Given the description of an element on the screen output the (x, y) to click on. 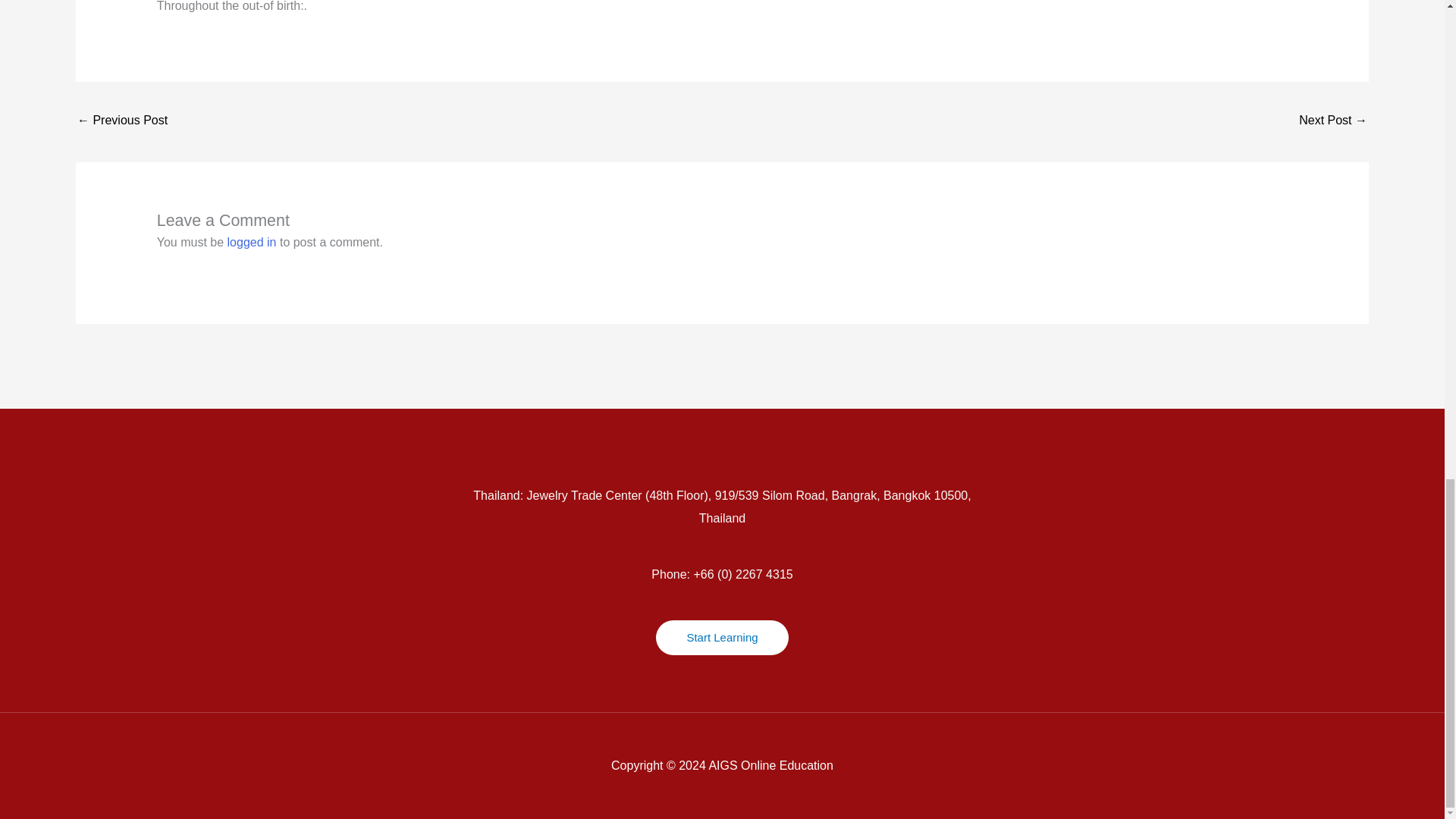
Start Learning (721, 637)
logged in (251, 241)
